Given the description of an element on the screen output the (x, y) to click on. 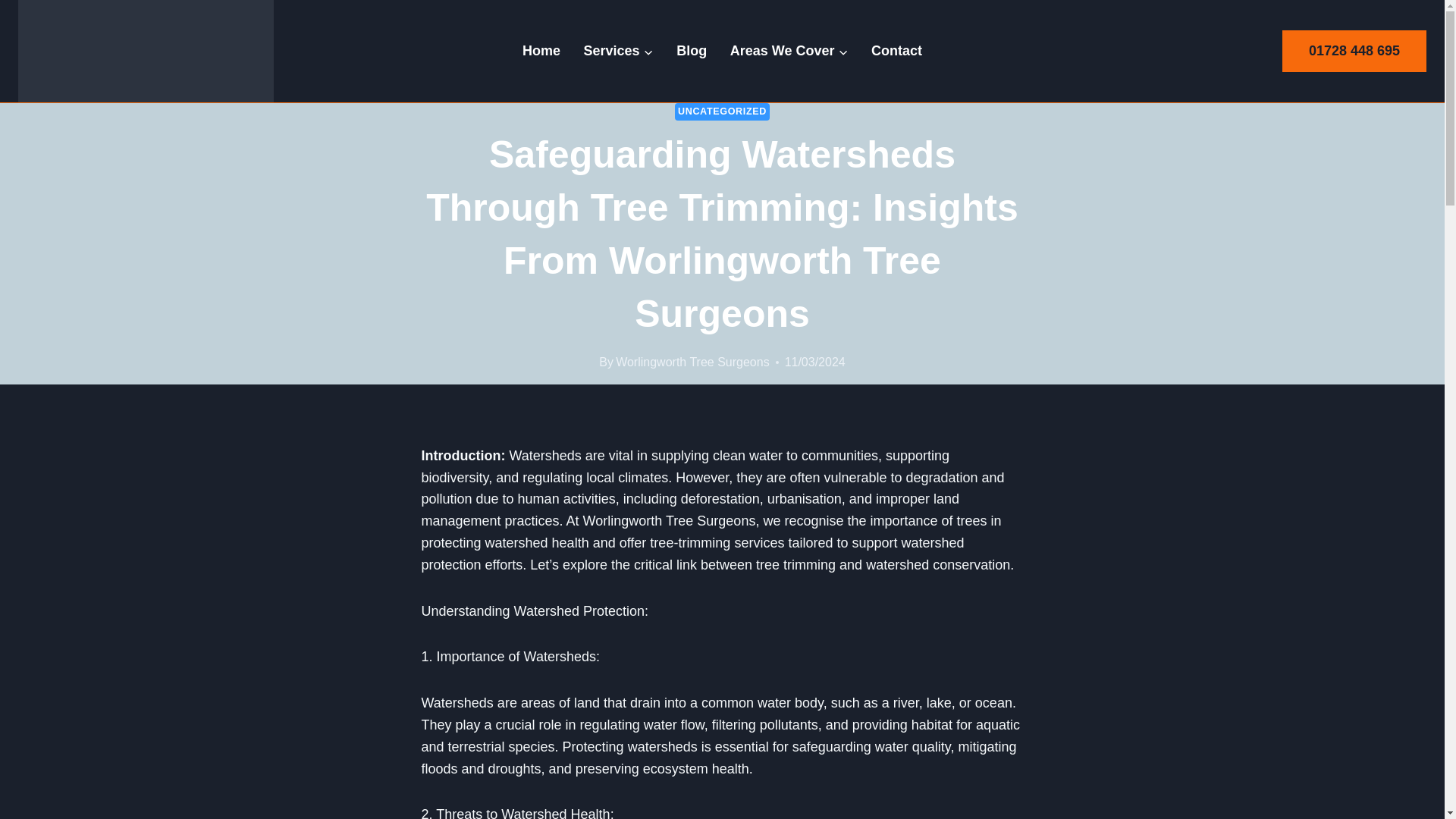
Blog (692, 50)
Areas We Cover (788, 50)
Home (541, 50)
Services (618, 50)
